Given the description of an element on the screen output the (x, y) to click on. 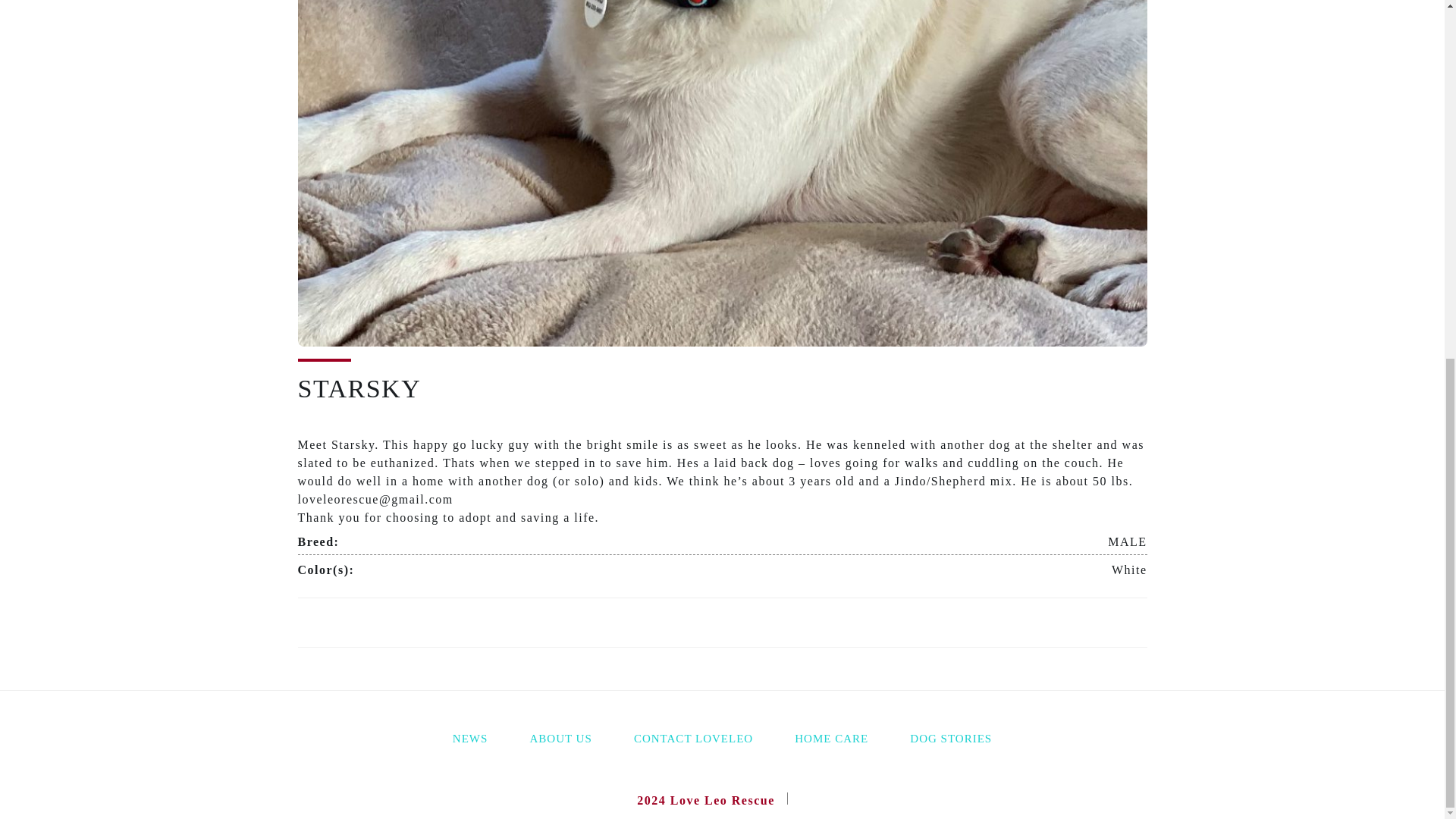
HOME CARE (830, 739)
ABOUT US (560, 739)
DOG STORIES (950, 739)
NEWS (469, 739)
CONTACT LOVELEO (692, 739)
